Given the description of an element on the screen output the (x, y) to click on. 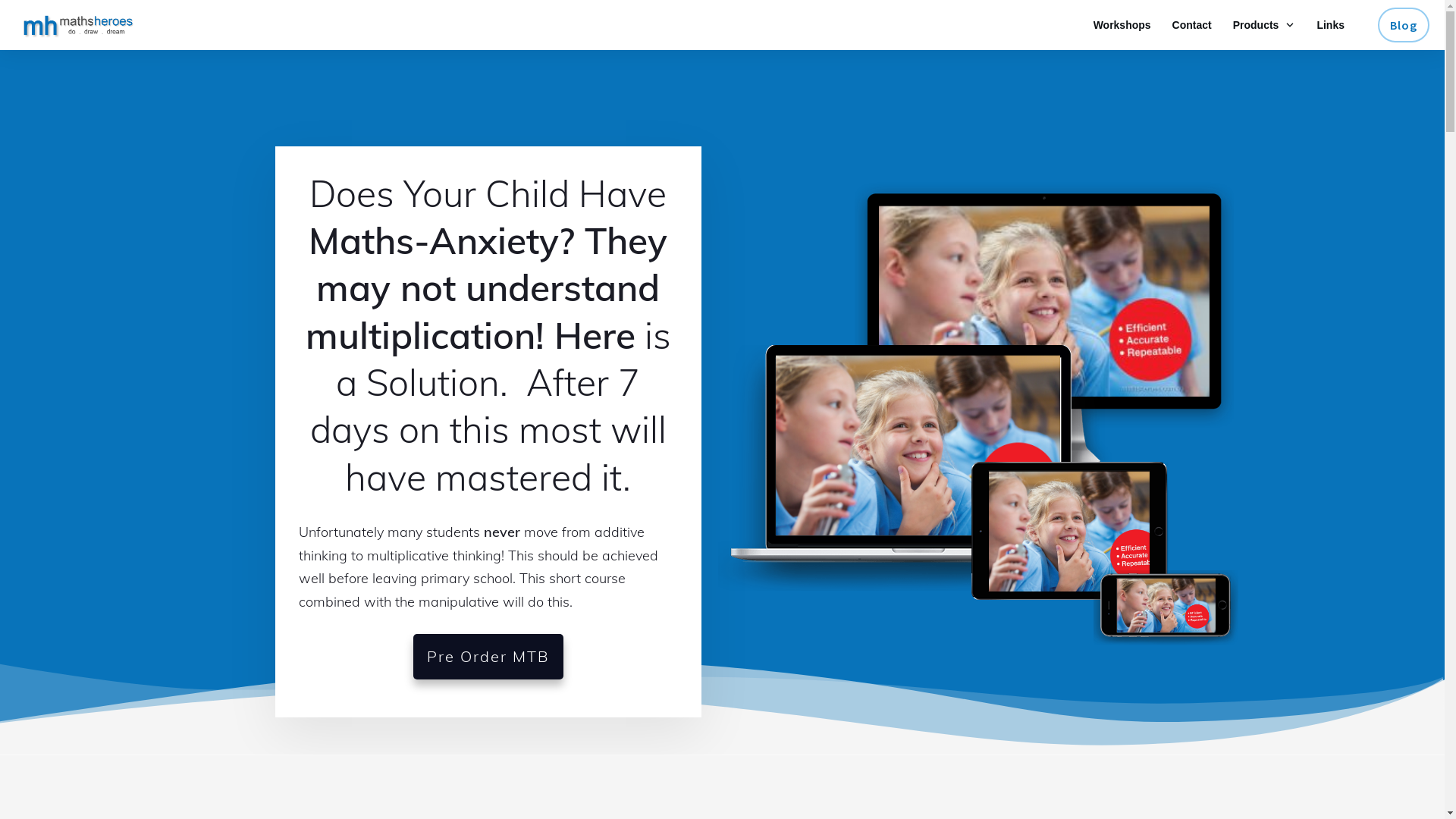
Blog Element type: text (1403, 24)
Links Element type: text (1330, 24)
Products Element type: text (1264, 24)
Contact Element type: text (1191, 24)
Workshops Element type: text (1122, 24)
Pre Order MTB Element type: text (488, 656)
